Given the description of an element on the screen output the (x, y) to click on. 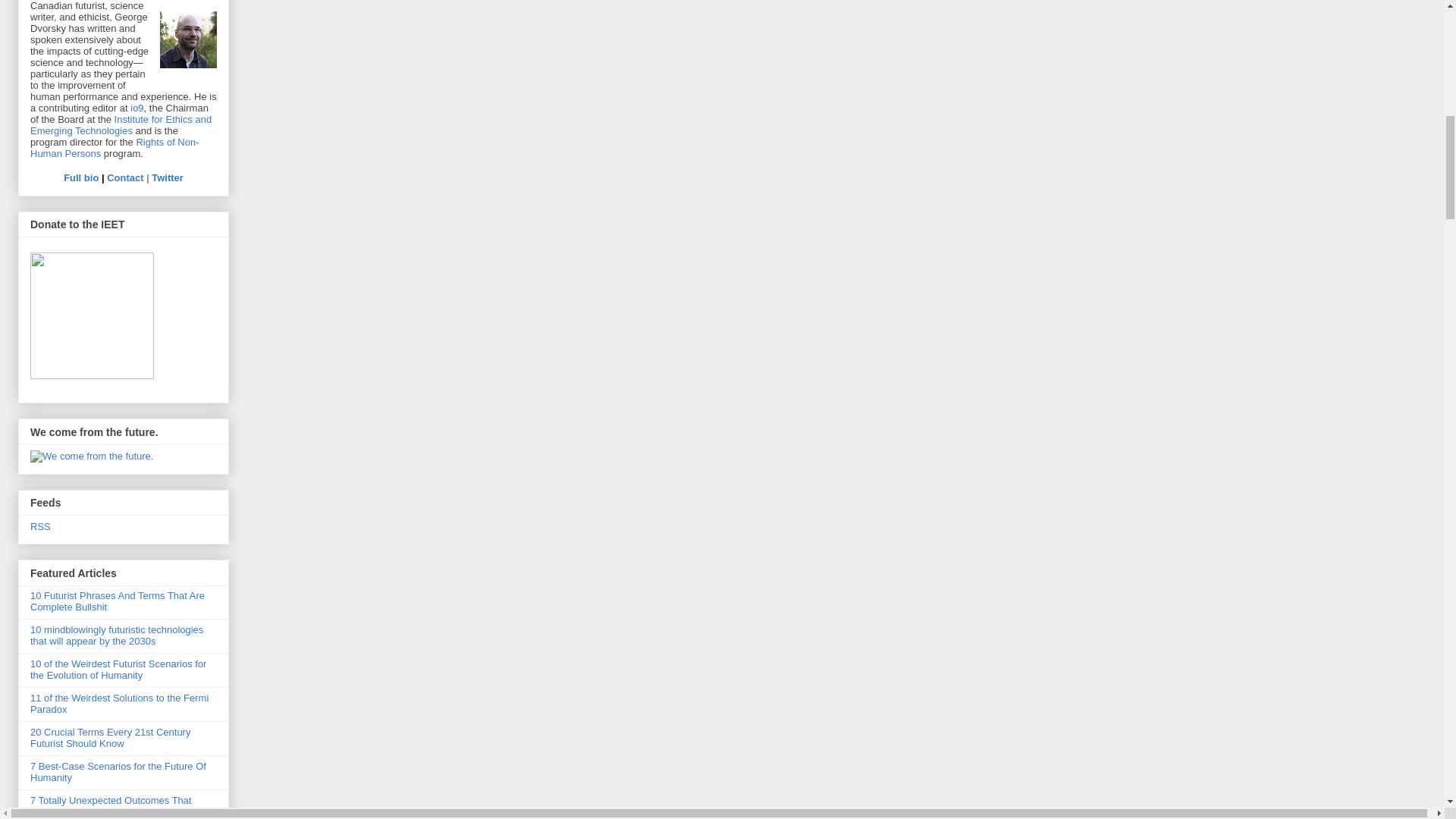
Rights of Non-Human Persons (114, 147)
Contact (124, 177)
Institute for Ethics and Emerging Technologies (120, 124)
RSS (40, 526)
Full bio (81, 177)
io9 (136, 107)
Twitter (167, 177)
11 of the Weirdest Solutions to the Fermi Paradox (119, 703)
10 Futurist Phrases And Terms That Are Complete Bullshit (117, 600)
20 Crucial Terms Every 21st Century Futurist Should Know (110, 737)
7 Best-Case Scenarios for the Future Of Humanity (118, 771)
